Given the description of an element on the screen output the (x, y) to click on. 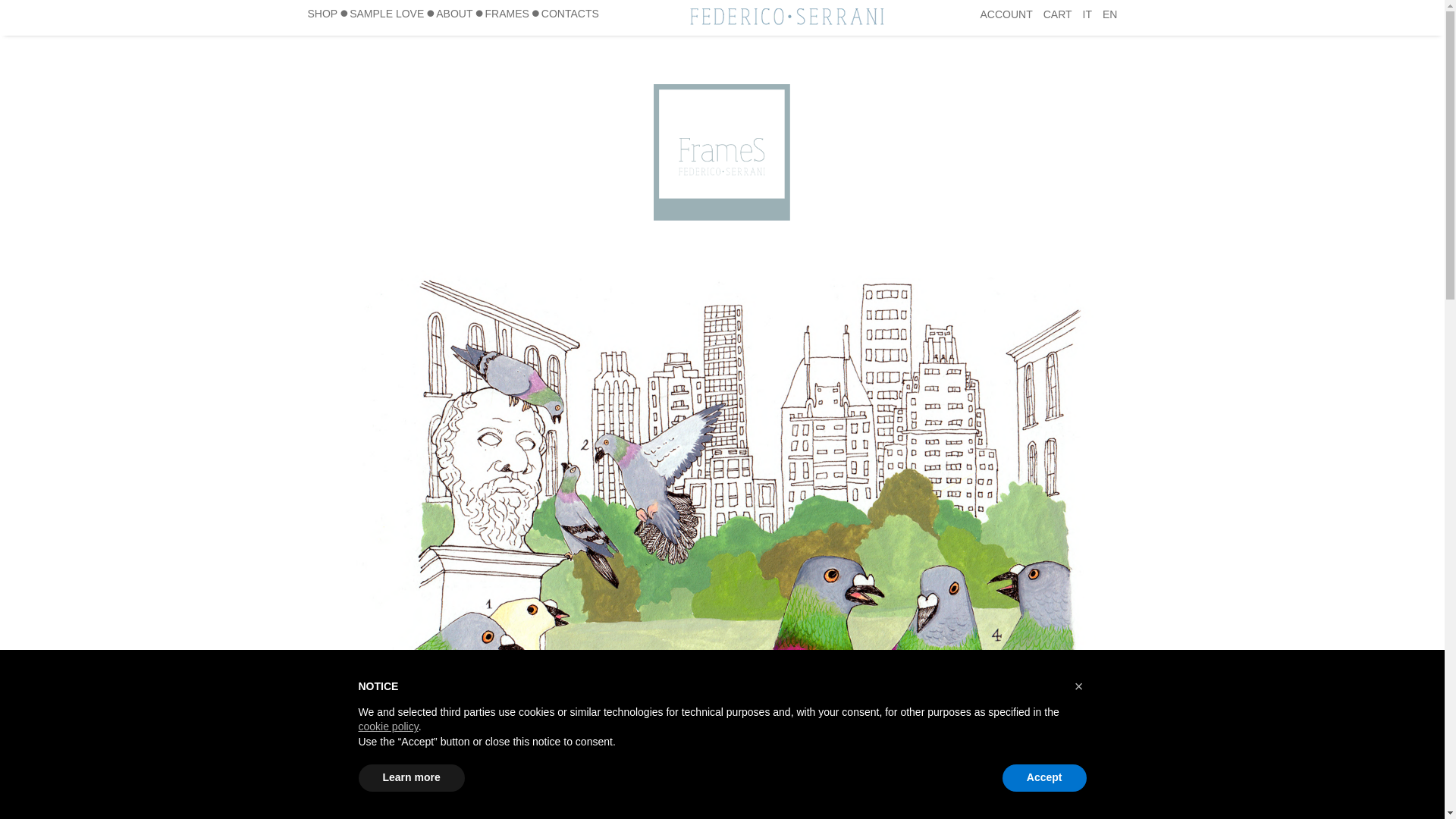
SAMPLE LOVE (386, 13)
CONTACTS (570, 13)
FRAMES (506, 13)
ABOUT (454, 13)
EN (1109, 14)
SHOP (322, 13)
EN (1109, 14)
Contacts (570, 13)
Shop (322, 13)
About (454, 13)
ACCOUNT (1005, 14)
Sample Love (386, 13)
CART (1057, 14)
Frames (506, 13)
cookie policy (387, 726)
